Given the description of an element on the screen output the (x, y) to click on. 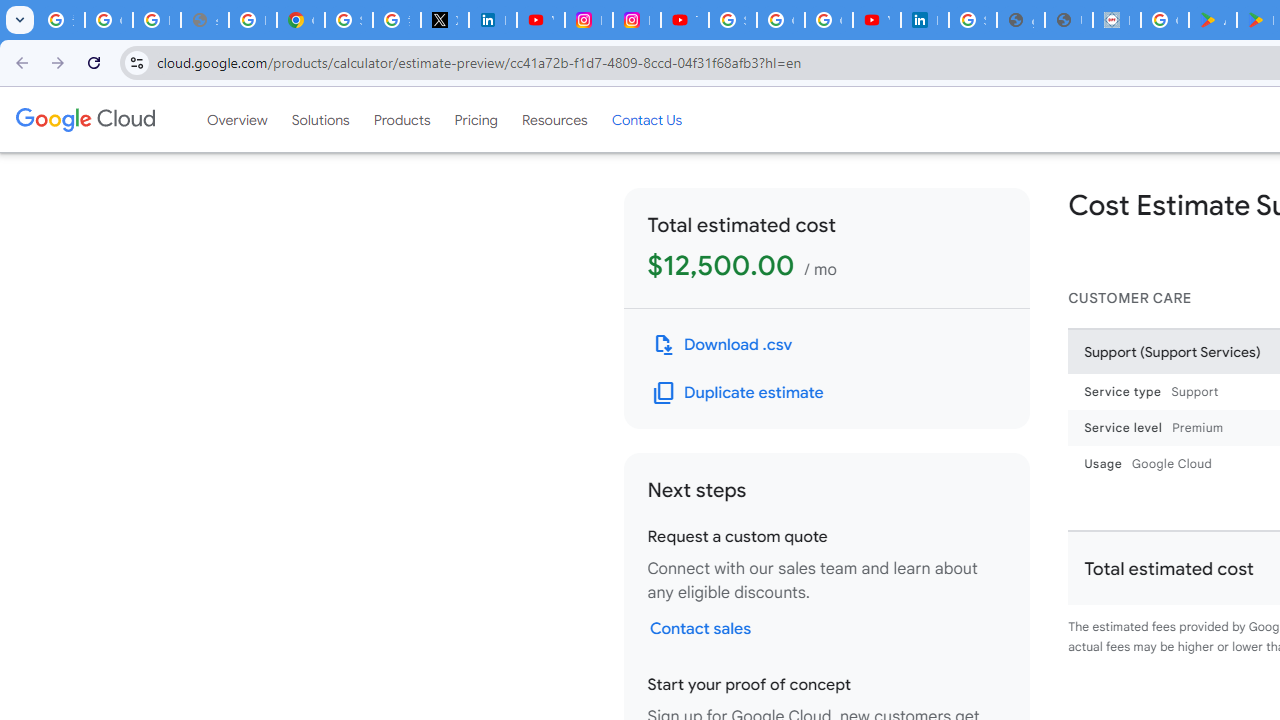
Resources (553, 119)
Contact Us (646, 119)
X (444, 20)
Sign in - Google Accounts (732, 20)
Sign in - Google Accounts (348, 20)
